Given the description of an element on the screen output the (x, y) to click on. 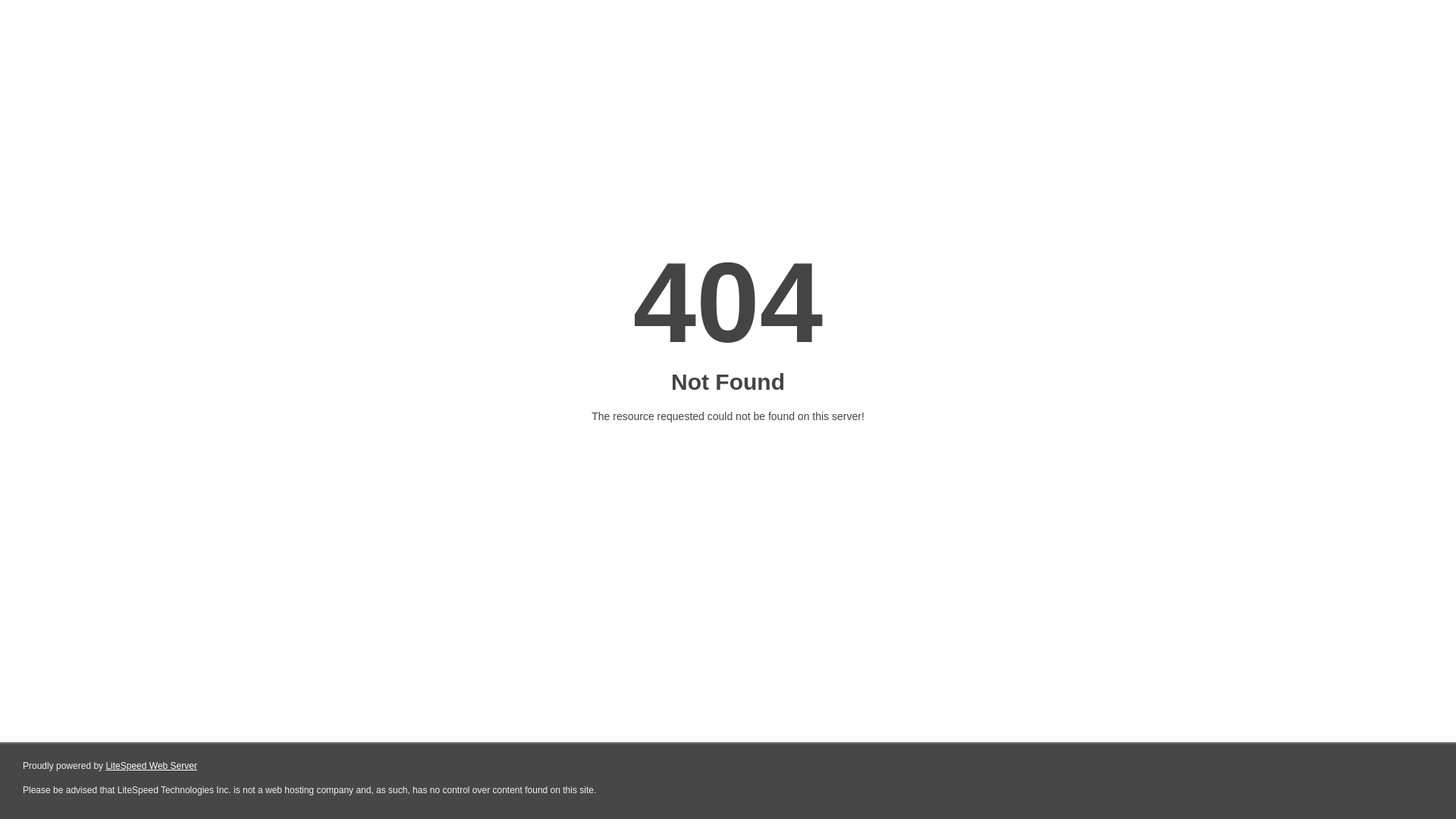
LiteSpeed Web Server Element type: text (151, 765)
